Given the description of an element on the screen output the (x, y) to click on. 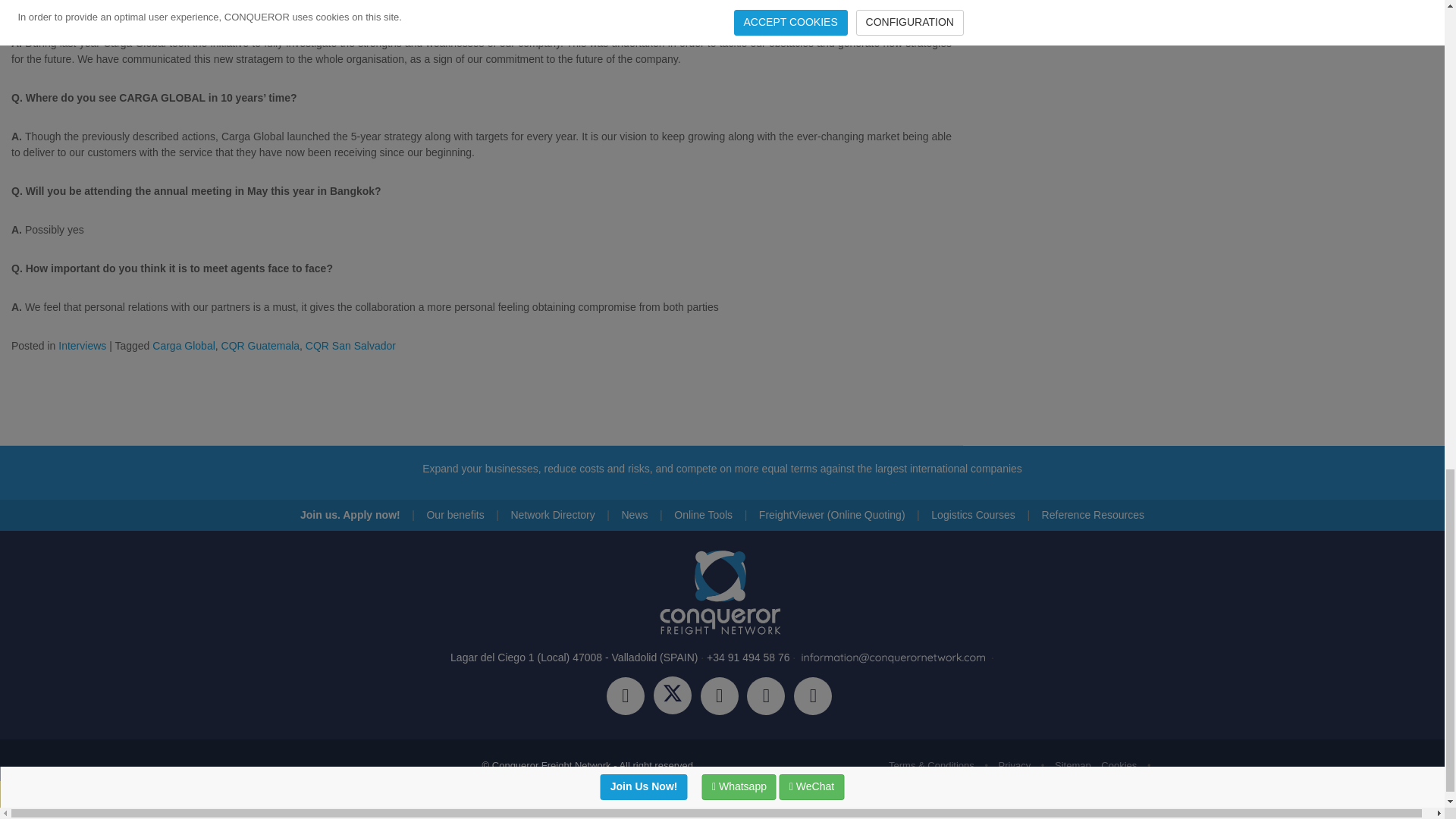
Our benefits (454, 514)
Twitter (676, 698)
Carga Global (183, 345)
Online Tools (703, 514)
Instagram (724, 698)
Network Directory (552, 514)
CQR San Salvador (350, 345)
Facebook (630, 698)
CQR Guatemala (260, 345)
Join us. Apply now! (349, 514)
News (634, 514)
Linkedin (769, 698)
Interviews (82, 345)
Youtube (815, 698)
